Given the description of an element on the screen output the (x, y) to click on. 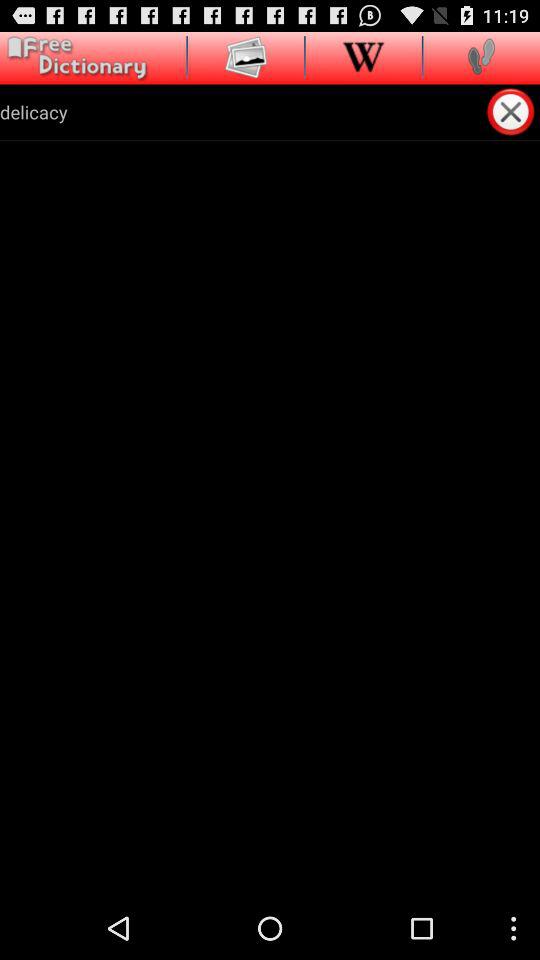
open the dictionary (74, 58)
